Given the description of an element on the screen output the (x, y) to click on. 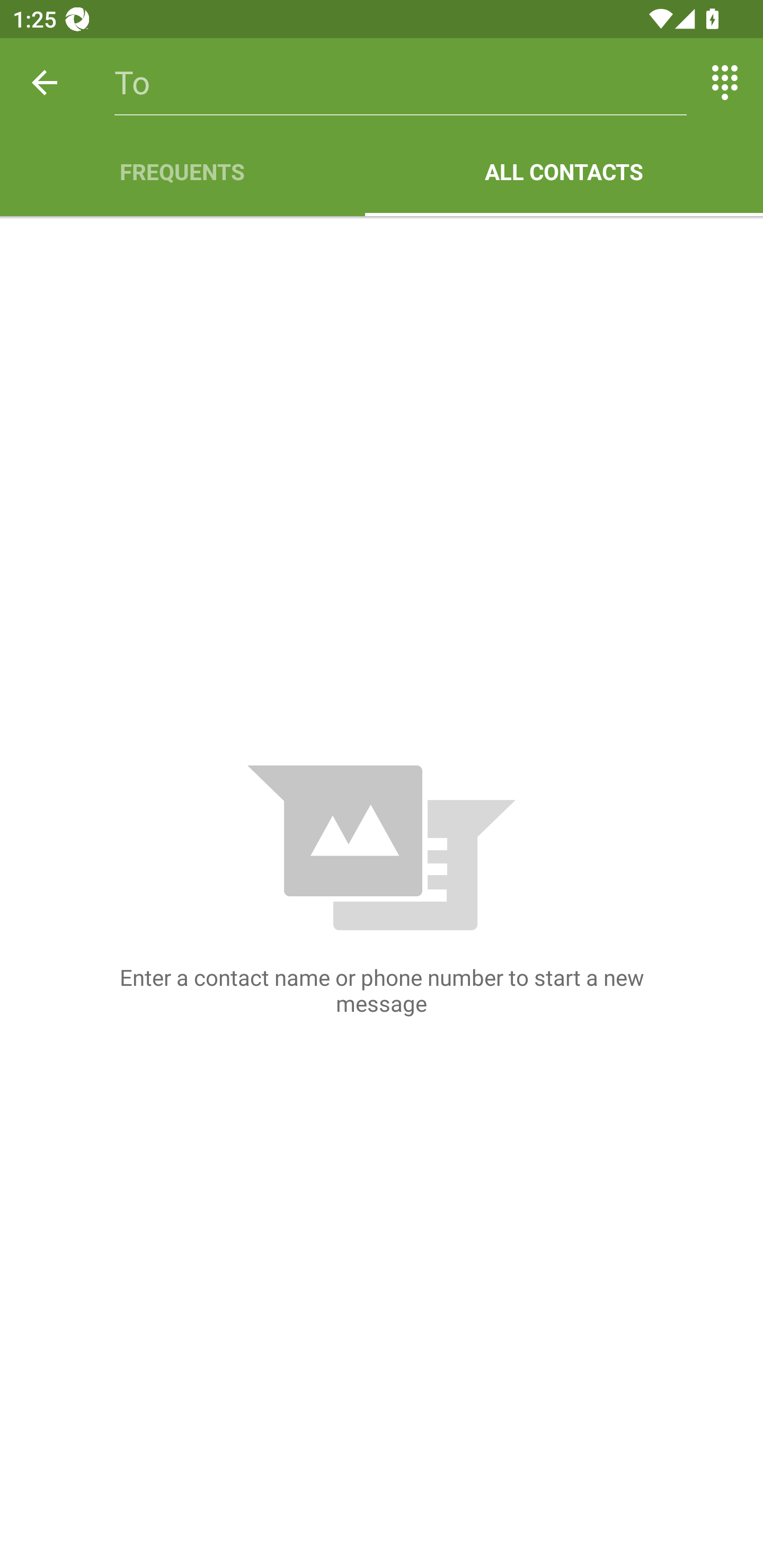
Back (44, 82)
Switch between entering text and numbers (724, 81)
To (400, 82)
FREQUENTS (182, 171)
ALL CONTACTS (563, 171)
